Given the description of an element on the screen output the (x, y) to click on. 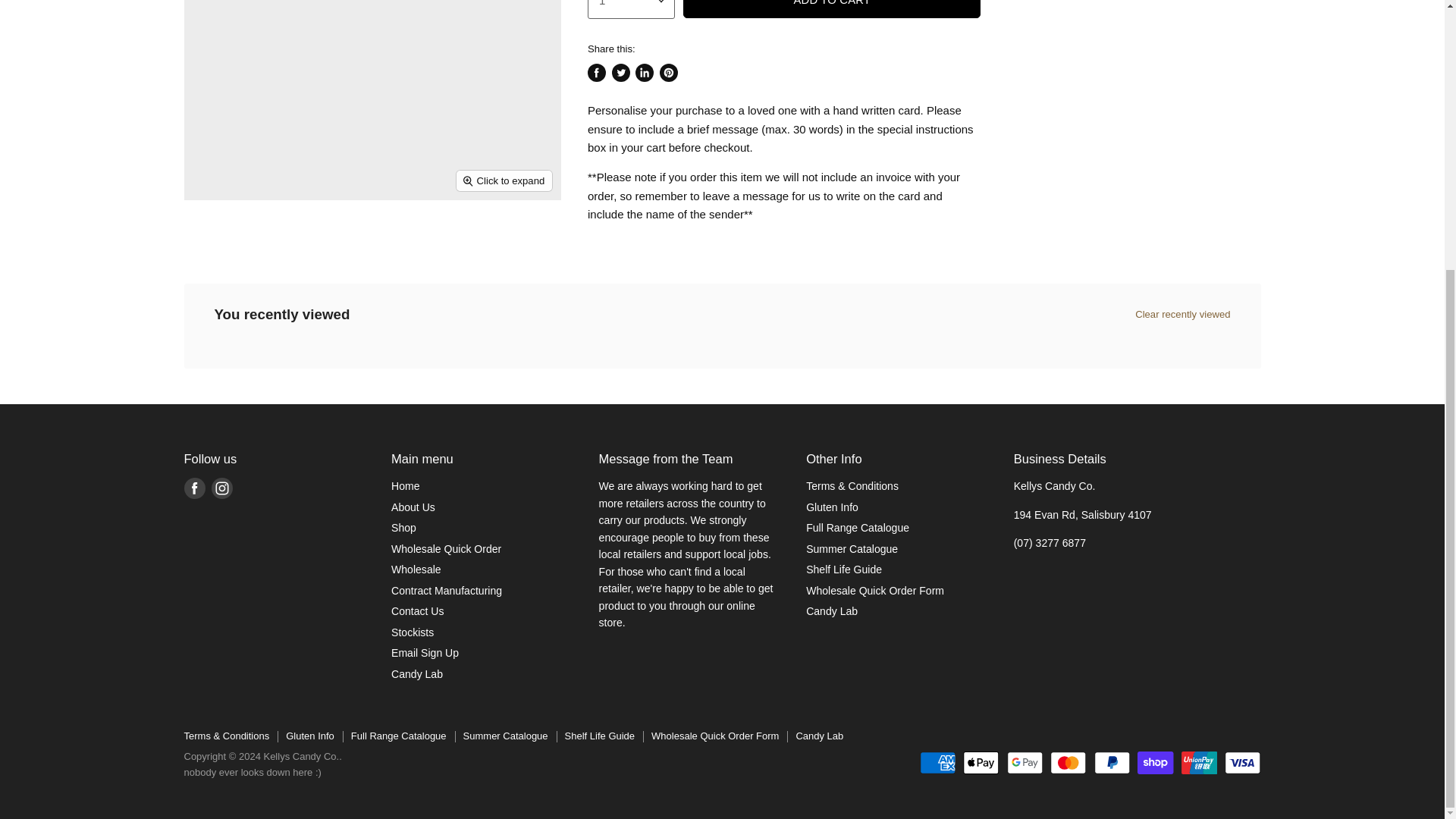
Facebook (194, 488)
Instagram (221, 488)
Click to expand (505, 180)
